Given the description of an element on the screen output the (x, y) to click on. 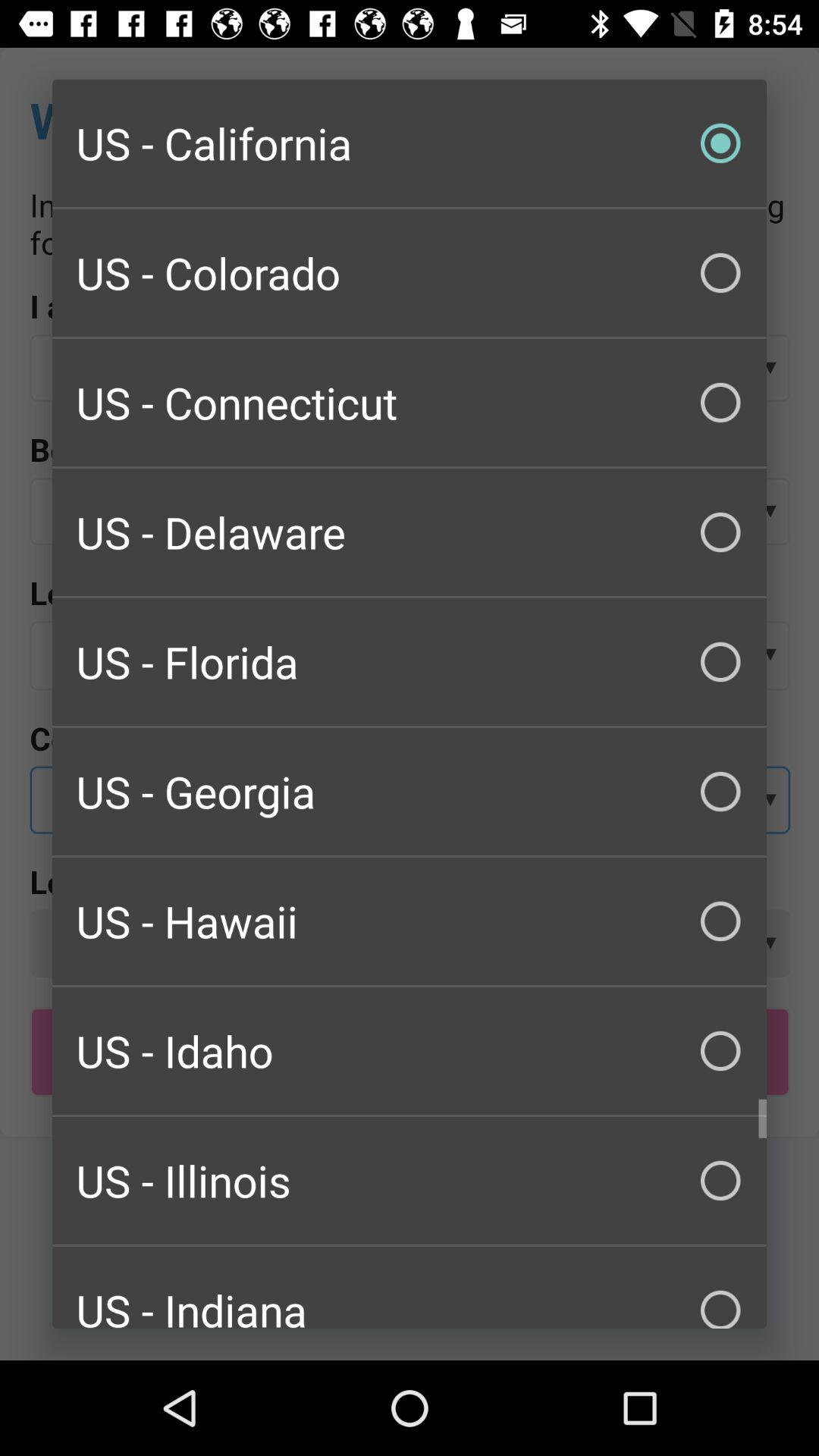
turn off the us - idaho item (409, 1050)
